Given the description of an element on the screen output the (x, y) to click on. 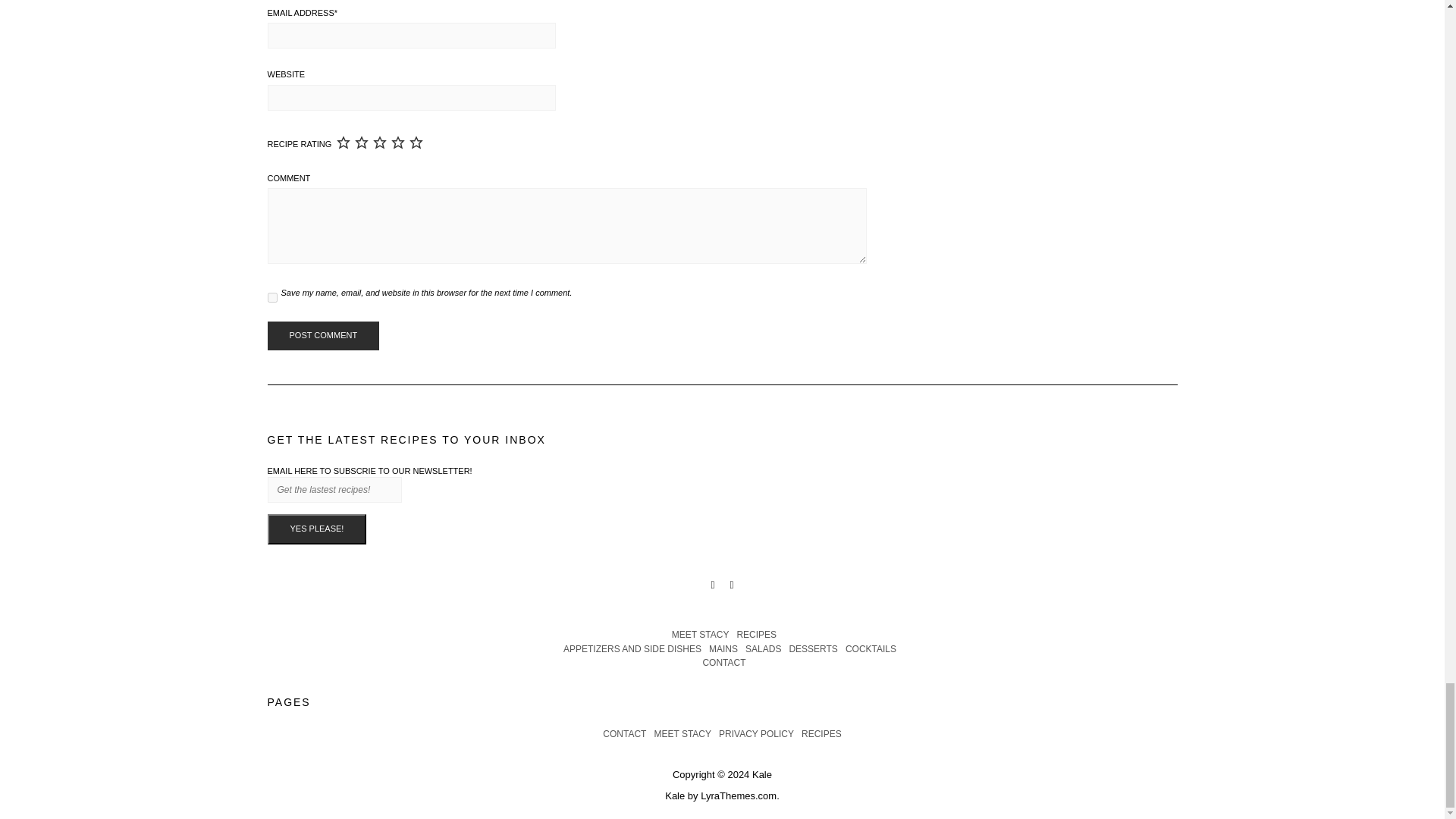
yes (271, 297)
Post Comment (322, 335)
Yes Please! (316, 529)
